Given the description of an element on the screen output the (x, y) to click on. 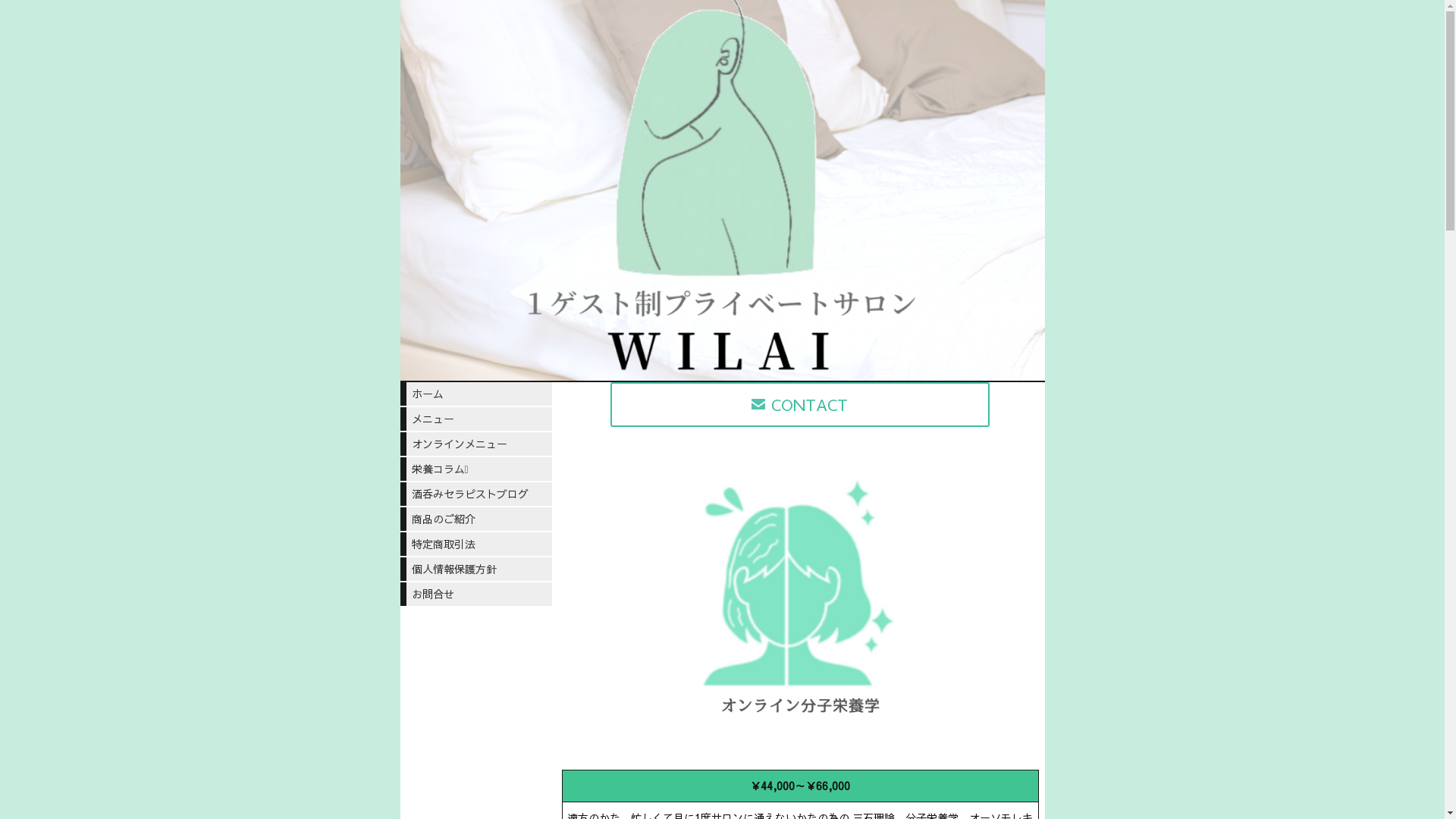
CONTACT Element type: text (799, 404)
